Given the description of an element on the screen output the (x, y) to click on. 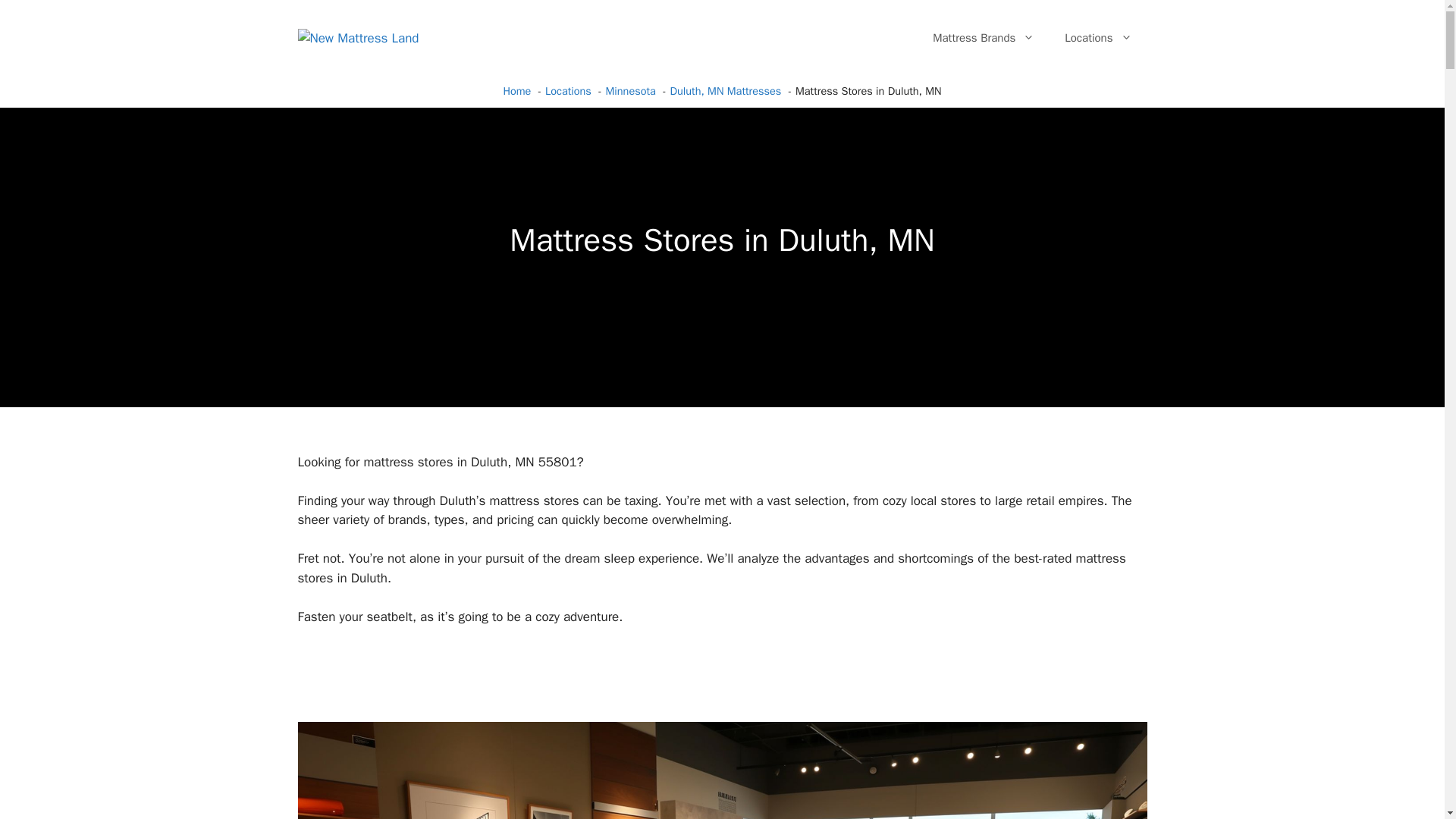
Mattress Brands (983, 37)
Home (516, 90)
Locations (1098, 37)
Locations (567, 90)
Minnesota (630, 90)
Duluth, MN Mattresses (725, 90)
